Given the description of an element on the screen output the (x, y) to click on. 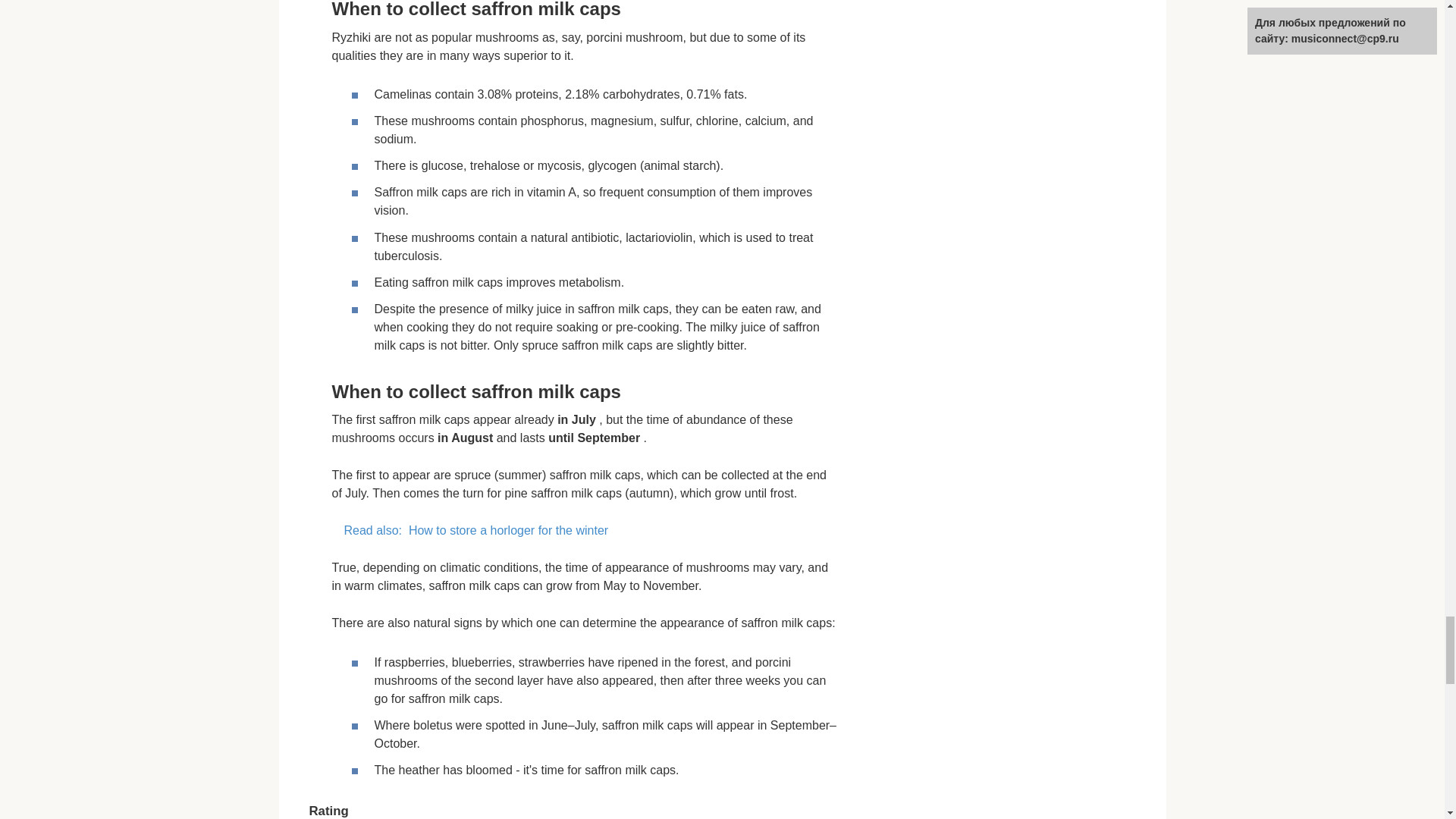
Read also:  How to store a horloger for the winter (585, 530)
